Given the description of an element on the screen output the (x, y) to click on. 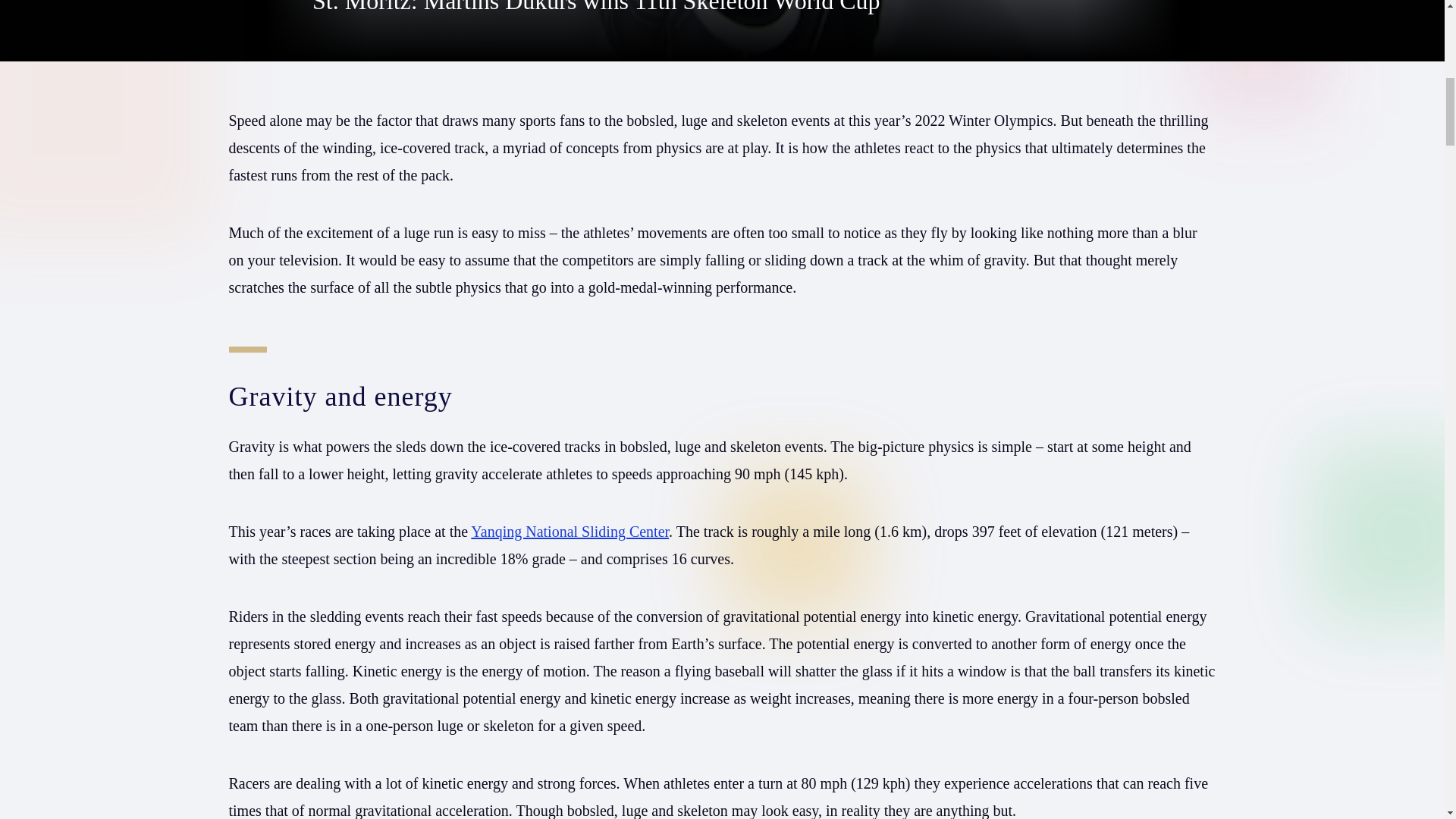
2m 37s (721, 30)
Yanqing National Sliding Center (569, 531)
St. Moritz: Martins Dukurs wins 11th Skeleton World Cup (596, 7)
